Given the description of an element on the screen output the (x, y) to click on. 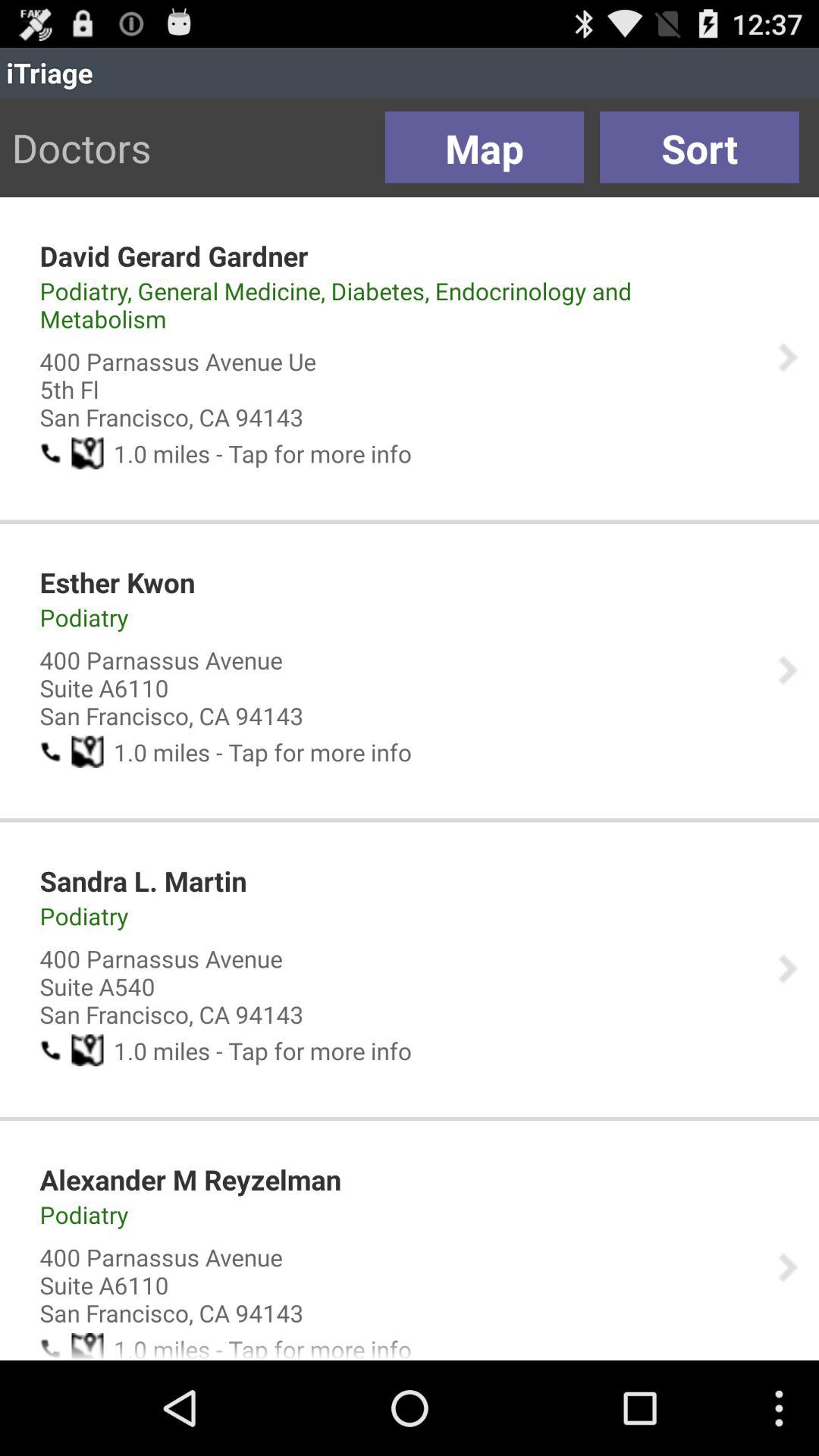
select the podiatry general medicine item (398, 304)
